Given the description of an element on the screen output the (x, y) to click on. 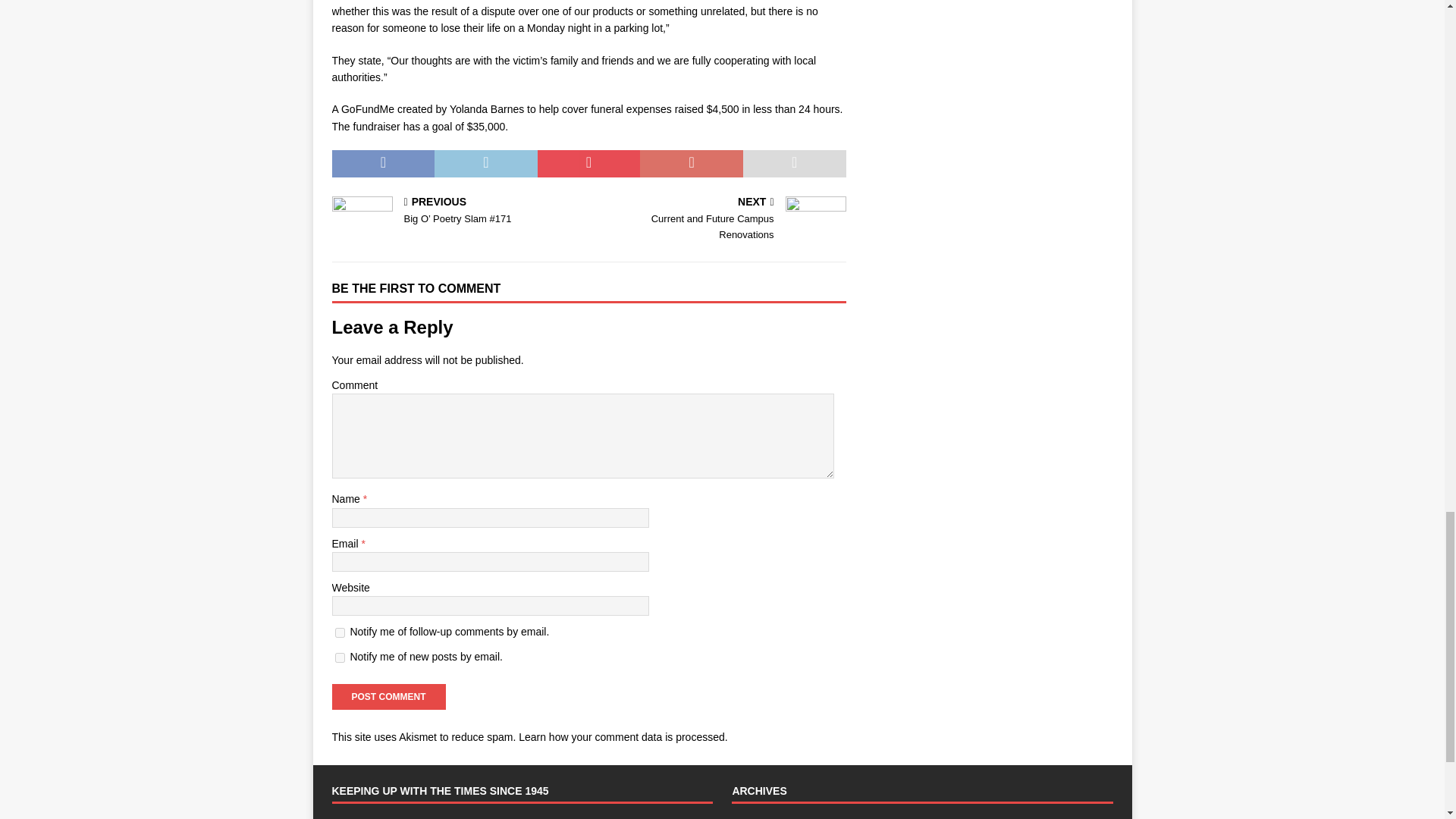
subscribe (339, 657)
subscribe (339, 633)
Post Comment (388, 696)
